Given the description of an element on the screen output the (x, y) to click on. 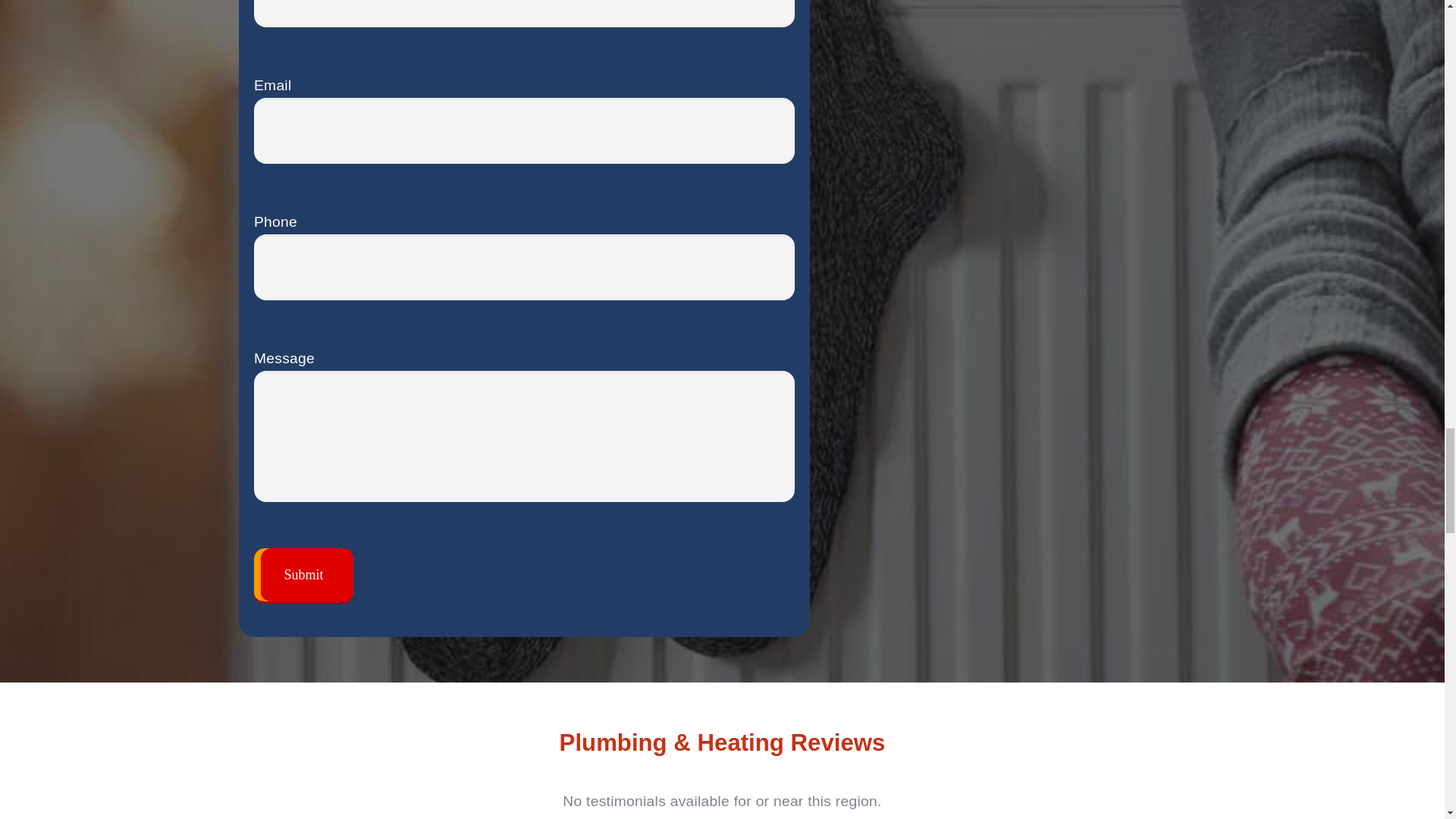
Submit (303, 575)
